Given the description of an element on the screen output the (x, y) to click on. 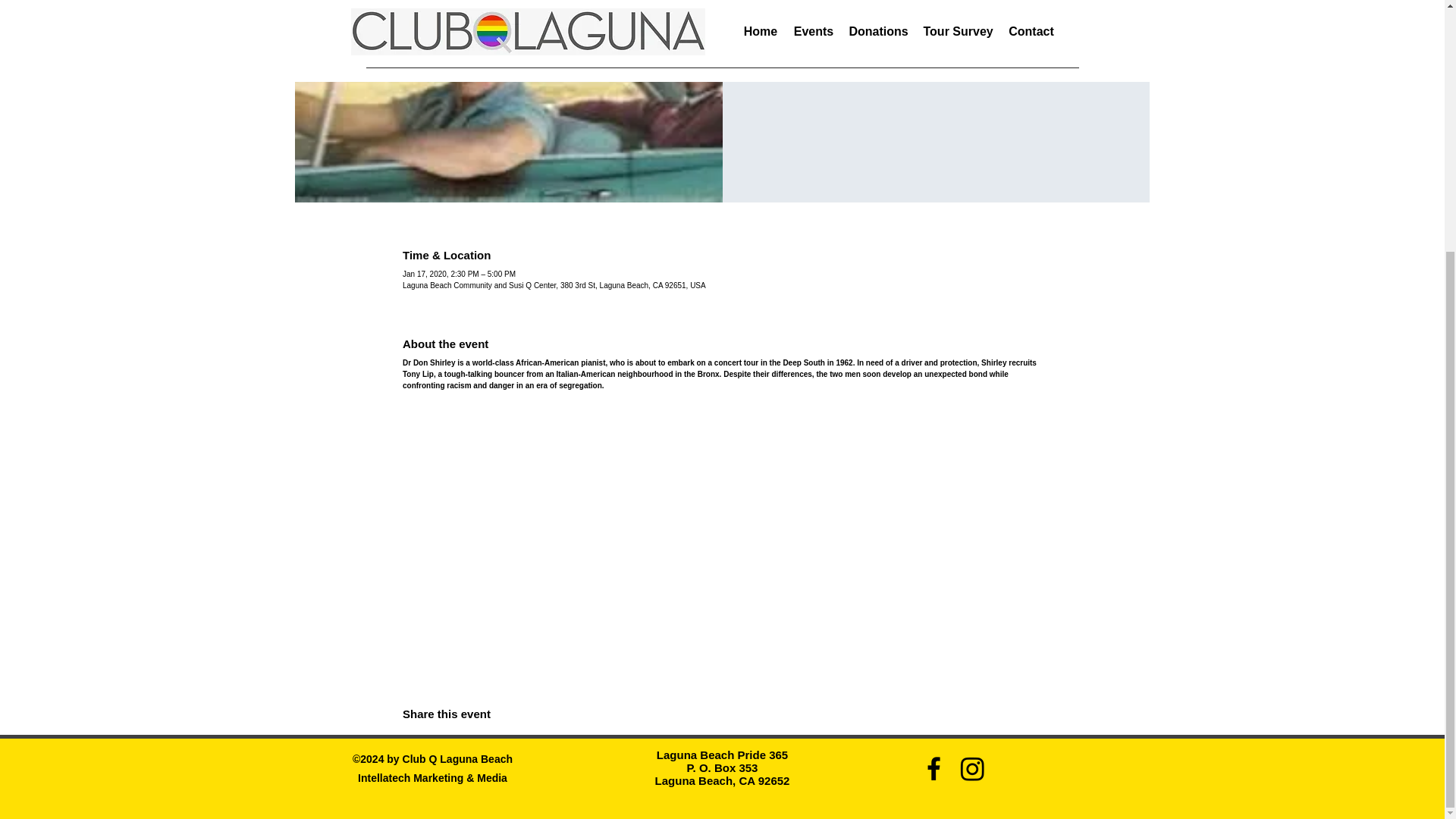
See other events (935, 42)
